Given the description of an element on the screen output the (x, y) to click on. 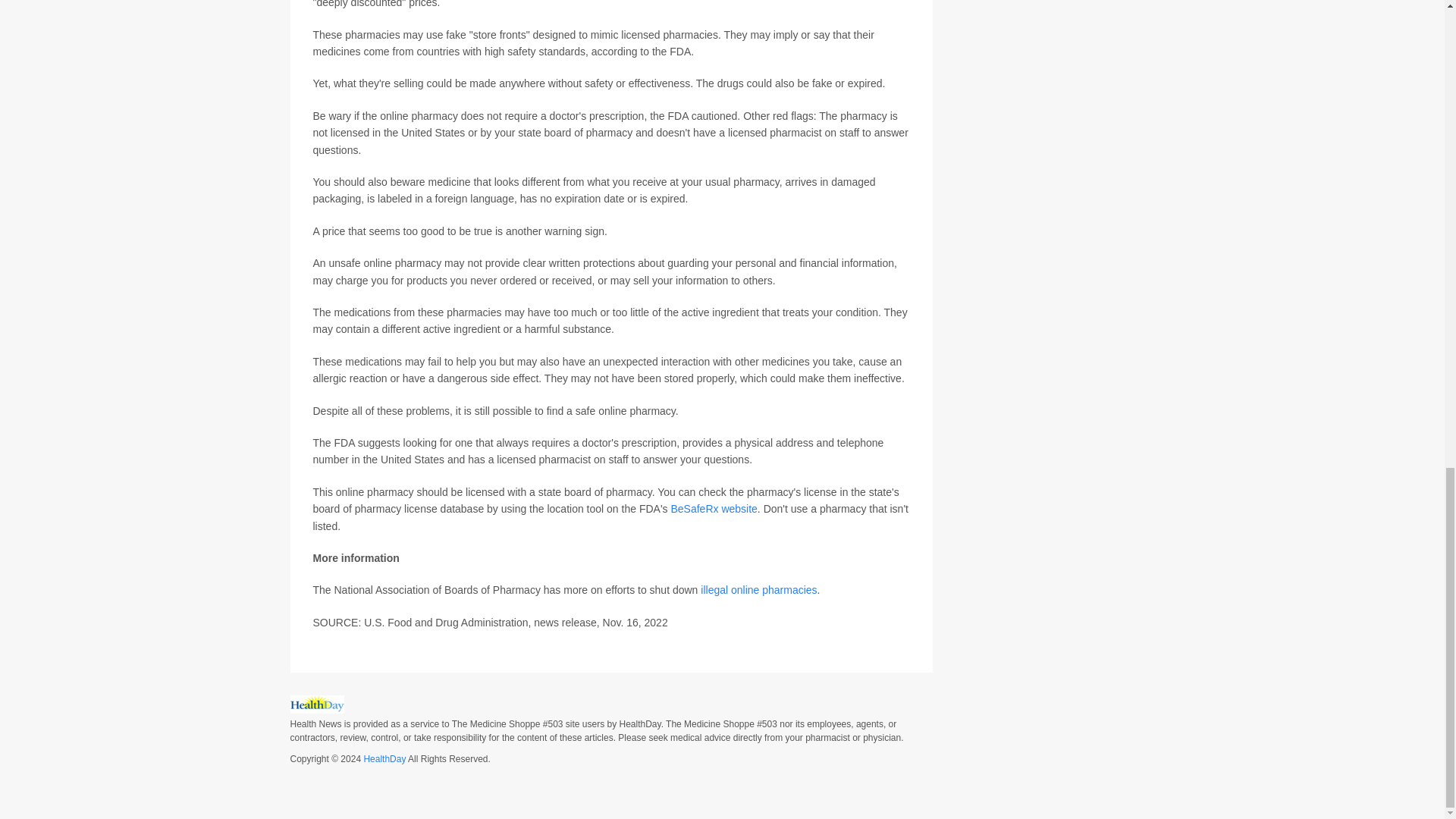
illegal online pharmacies (758, 589)
BeSafeRx website (713, 508)
